Given the description of an element on the screen output the (x, y) to click on. 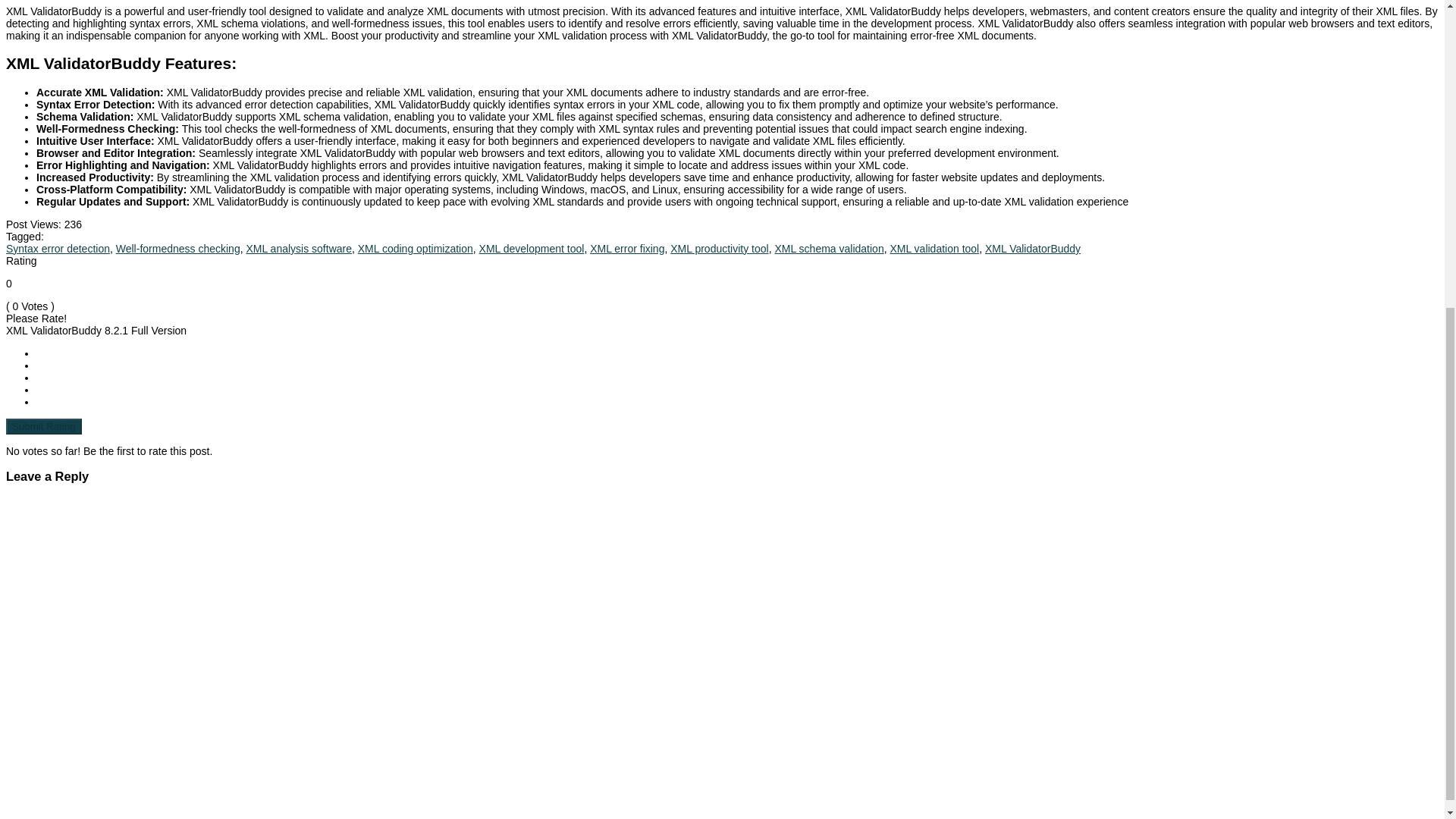
Well-formedness checking (178, 248)
Submit Rating (43, 426)
XML coding optimization (415, 248)
XML ValidatorBuddy (1032, 248)
XML analysis software (299, 248)
XML validation tool (933, 248)
XML development tool (532, 248)
XML schema validation (828, 248)
XML error fixing (626, 248)
Syntax error detection (57, 248)
XML productivity tool (718, 248)
